Given the description of an element on the screen output the (x, y) to click on. 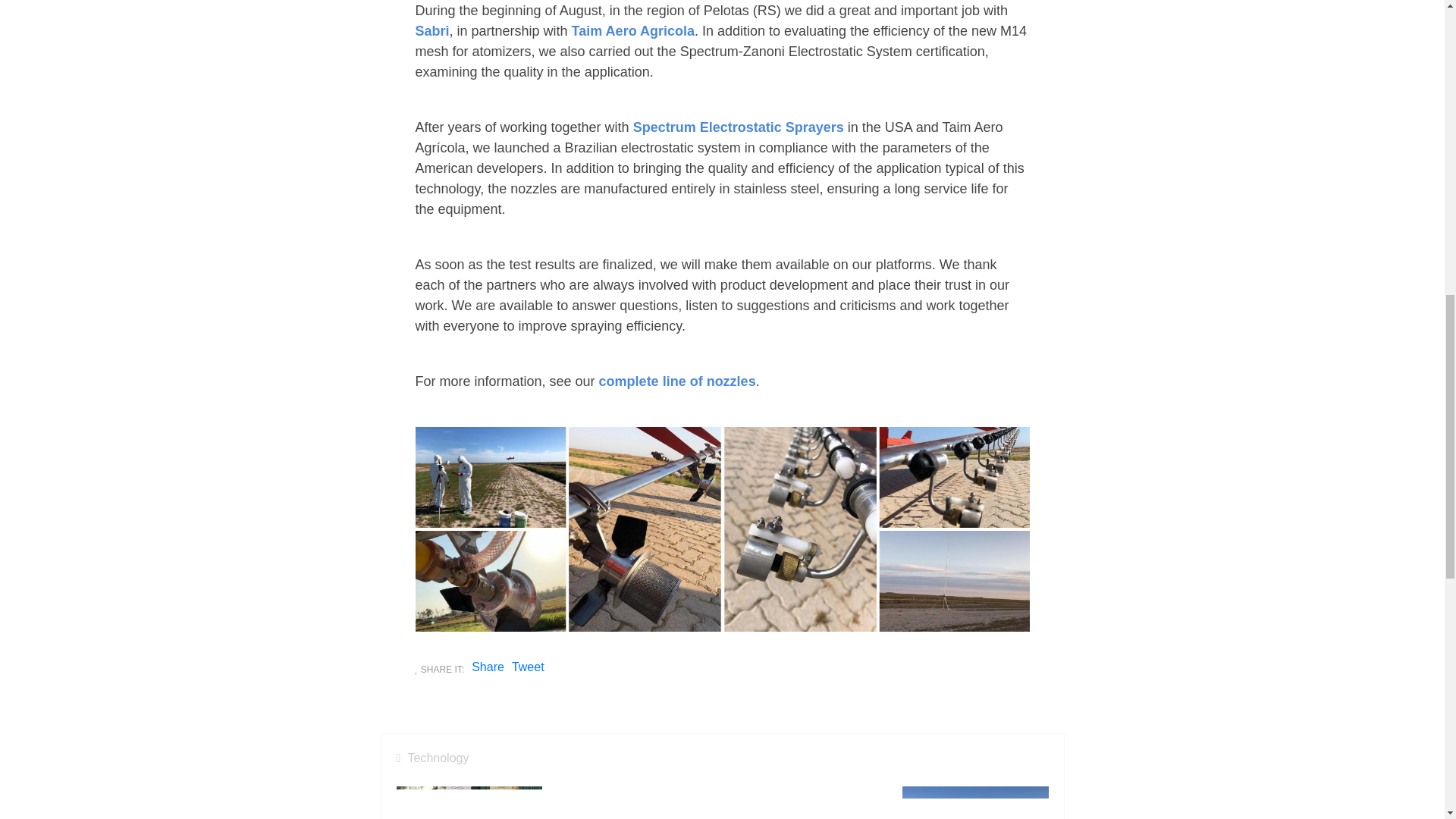
Tweet (528, 669)
Zanoni has positive feedback in the US (637, 802)
Sabri (431, 30)
complete line of nozzles (676, 381)
Taim Aero Agricola (633, 30)
Alan Poulsen presents Zanoni-Spectrum electrostatic results (975, 802)
Zanoni attended the NAAA 2020 Convention (468, 802)
Share (487, 666)
Spectrum Electrostatic Sprayers (738, 127)
Zanoni launches hydraulic gate for Thrush 510 (806, 802)
